Given the description of an element on the screen output the (x, y) to click on. 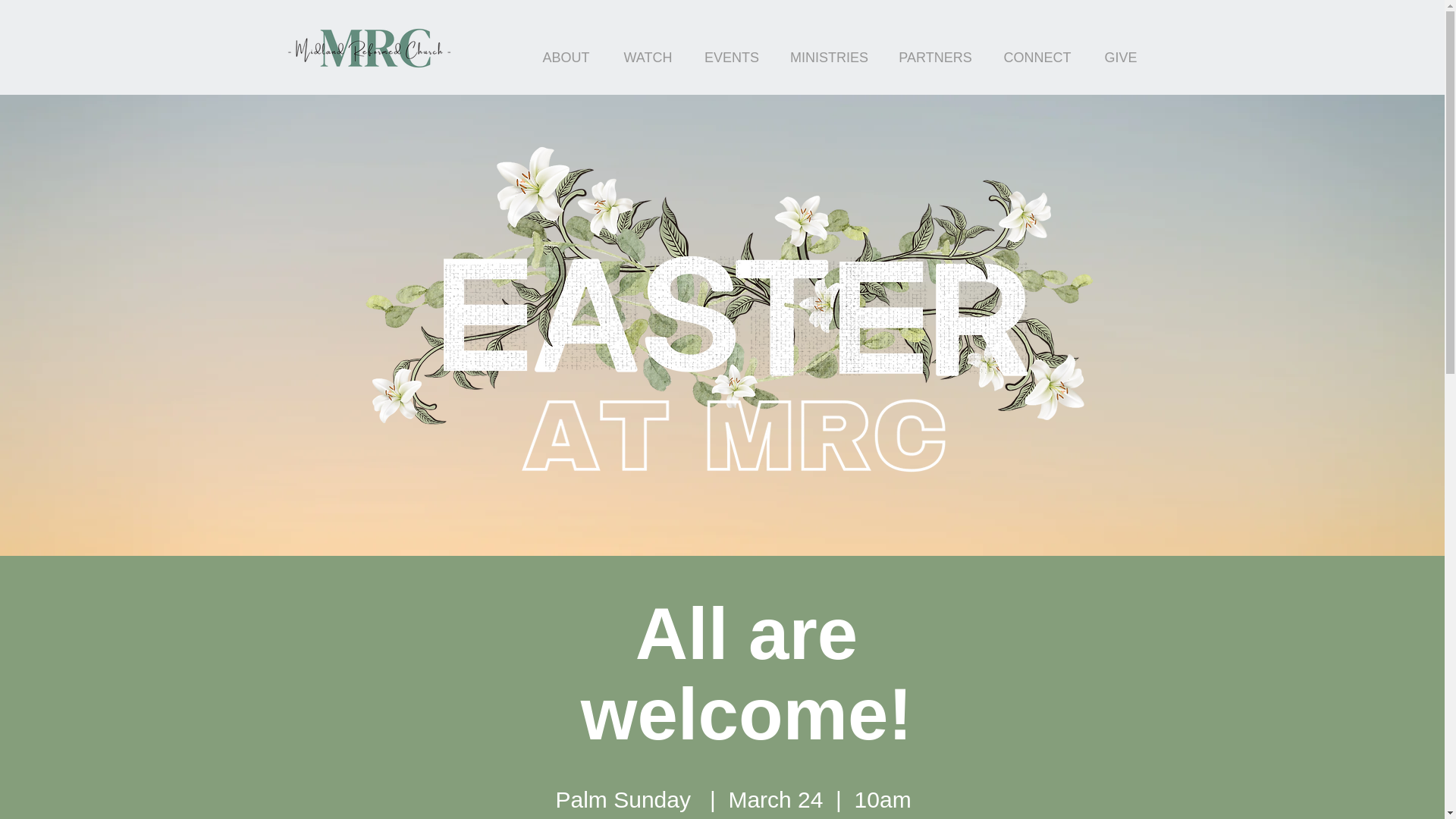
PARTNERS (935, 56)
EVENTS (731, 56)
GIVE (1120, 56)
ABOUT (565, 56)
MINISTRIES (828, 56)
WATCH (647, 56)
CONNECT (1037, 56)
